Given the description of an element on the screen output the (x, y) to click on. 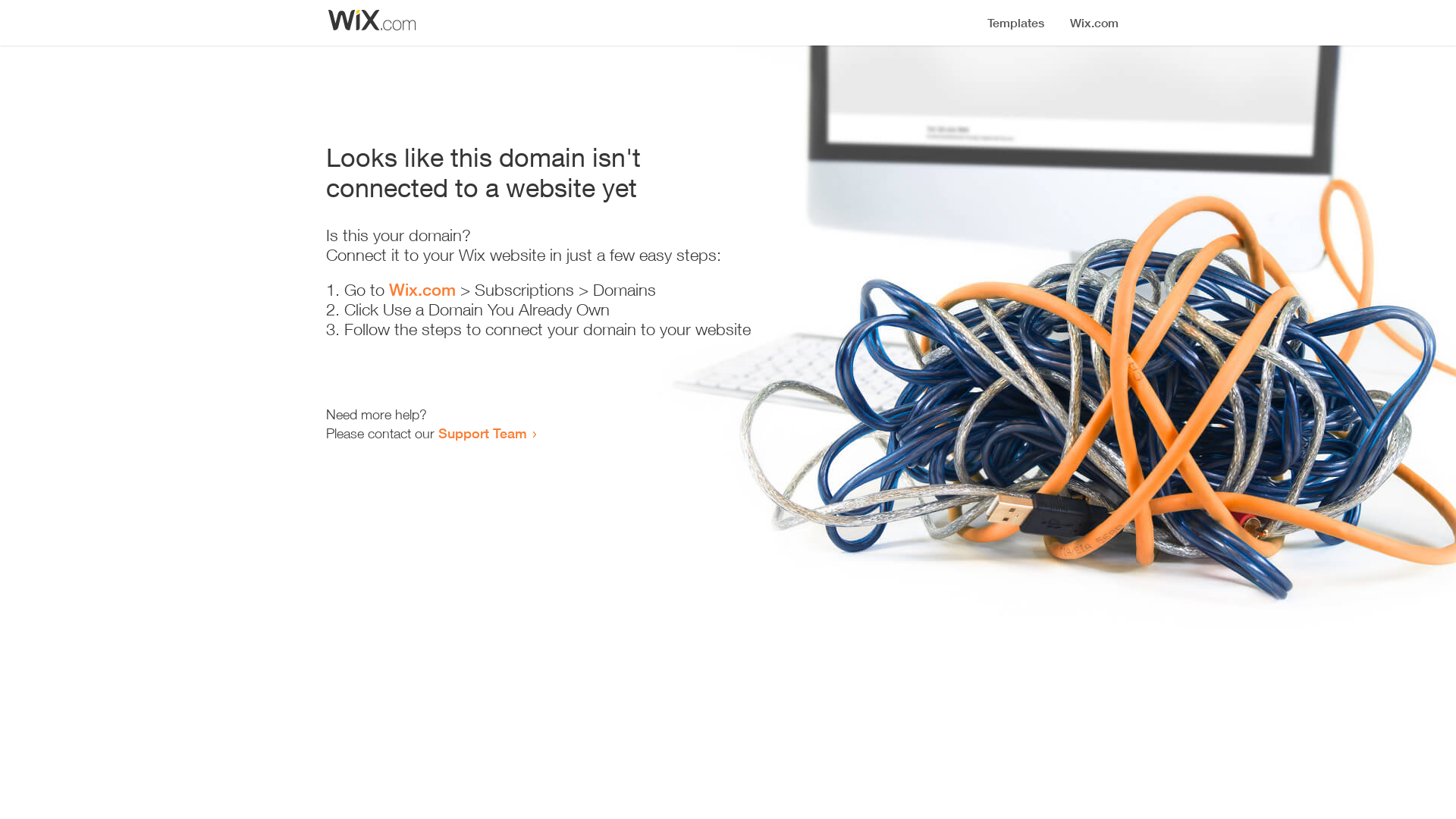
Support Team Element type: text (482, 432)
Wix.com Element type: text (422, 289)
